Given the description of an element on the screen output the (x, y) to click on. 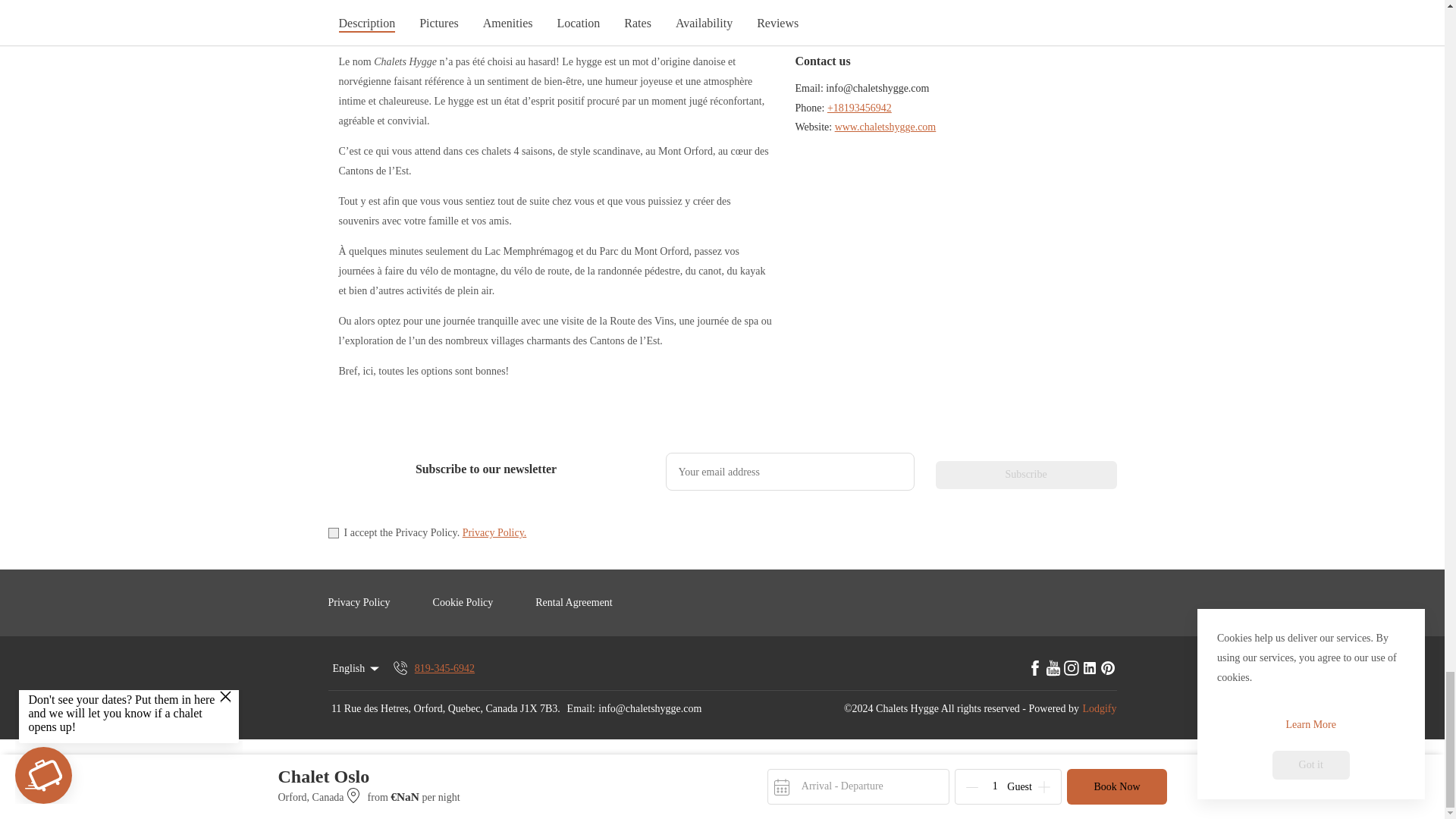
Linkedin (1088, 668)
on (332, 532)
Pinterest (1106, 668)
Facebook (1034, 668)
Youtube (1052, 668)
Instagram (1070, 668)
